Given the description of an element on the screen output the (x, y) to click on. 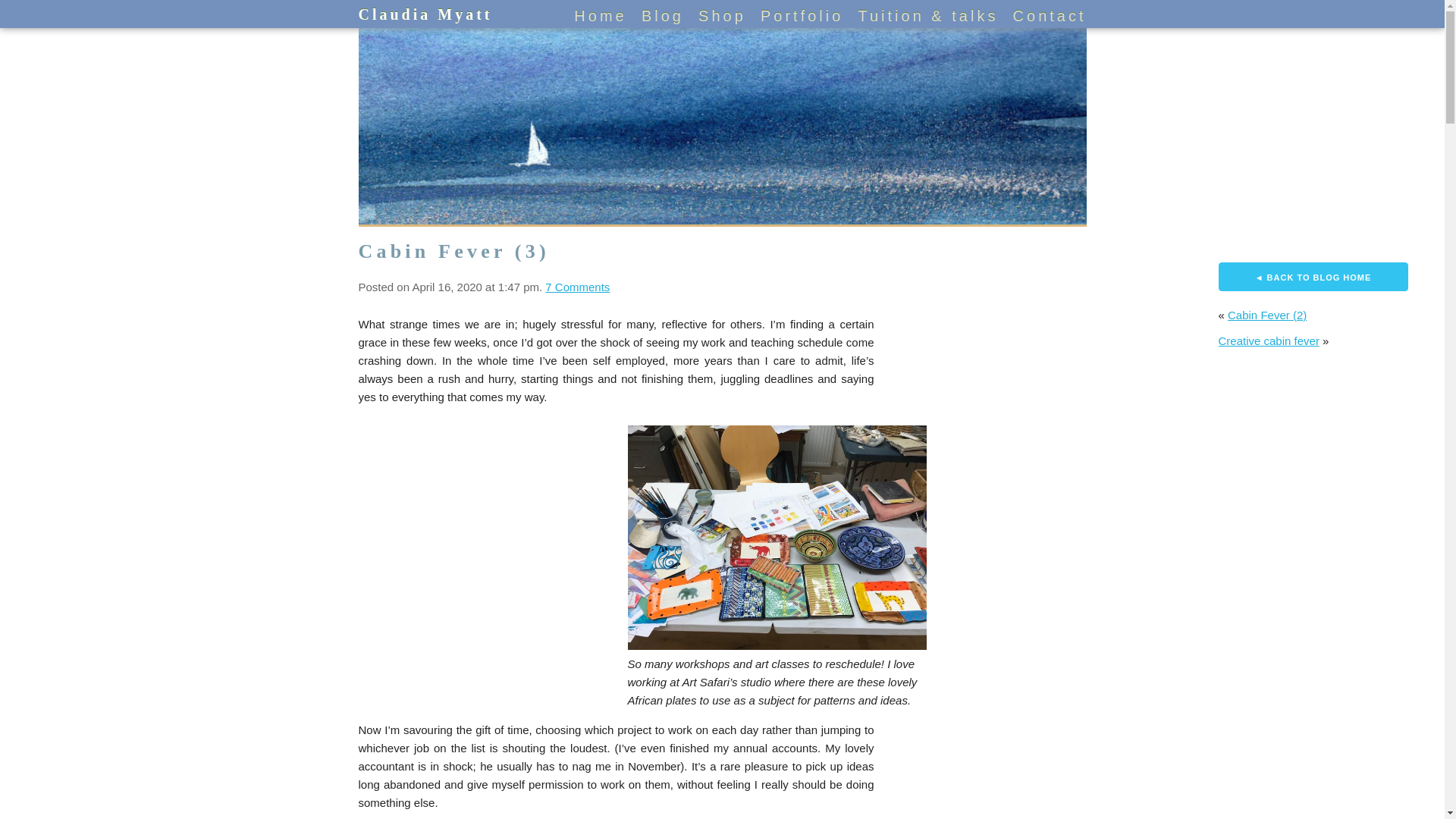
Home (599, 15)
Contact (1049, 15)
Blog (663, 15)
7 Comments (577, 286)
Claudia Myatt (425, 13)
Portfolio (801, 15)
Creative cabin fever (1268, 340)
Shop (721, 15)
